Given the description of an element on the screen output the (x, y) to click on. 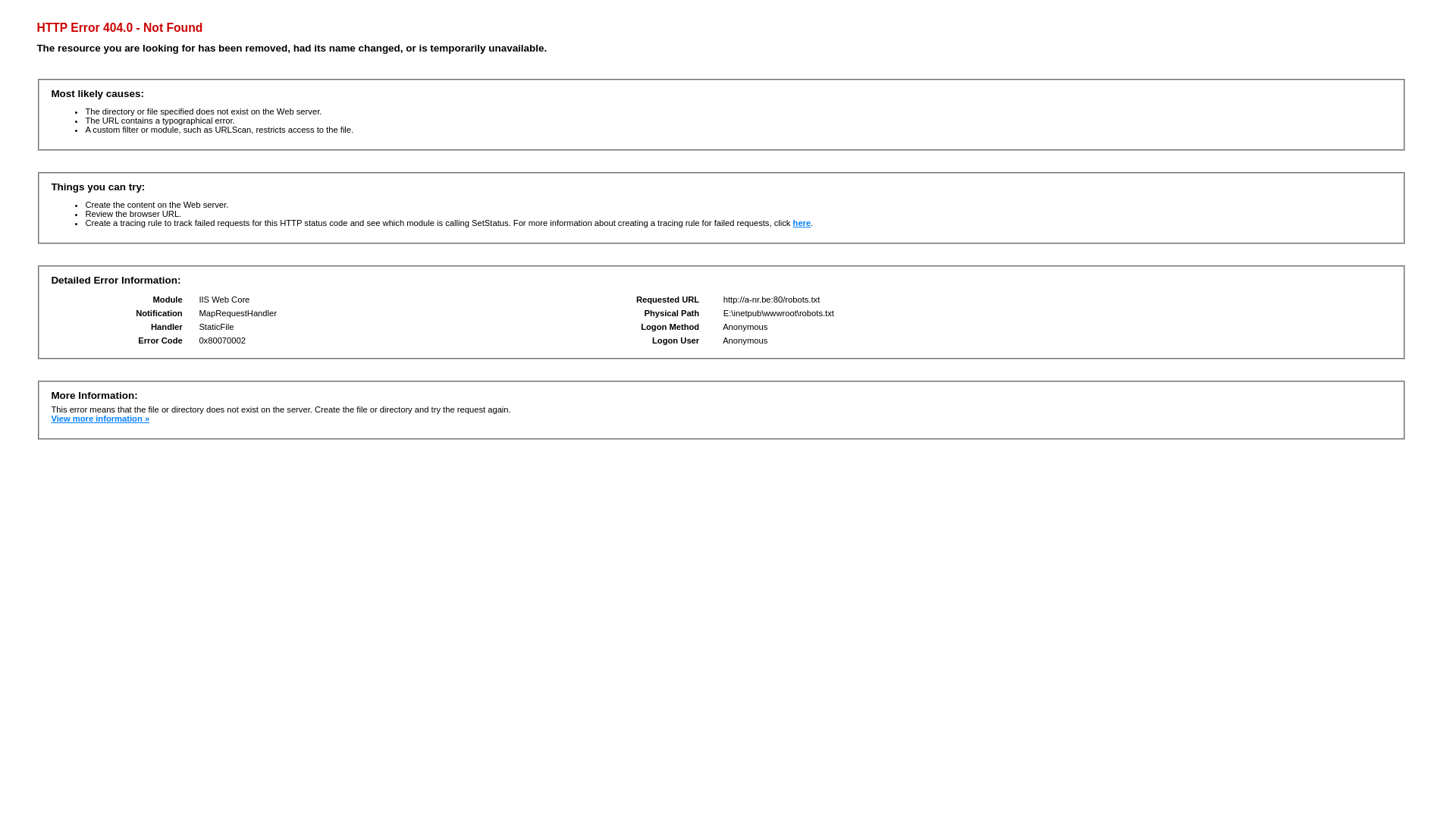
here Element type: text (802, 222)
